Given the description of an element on the screen output the (x, y) to click on. 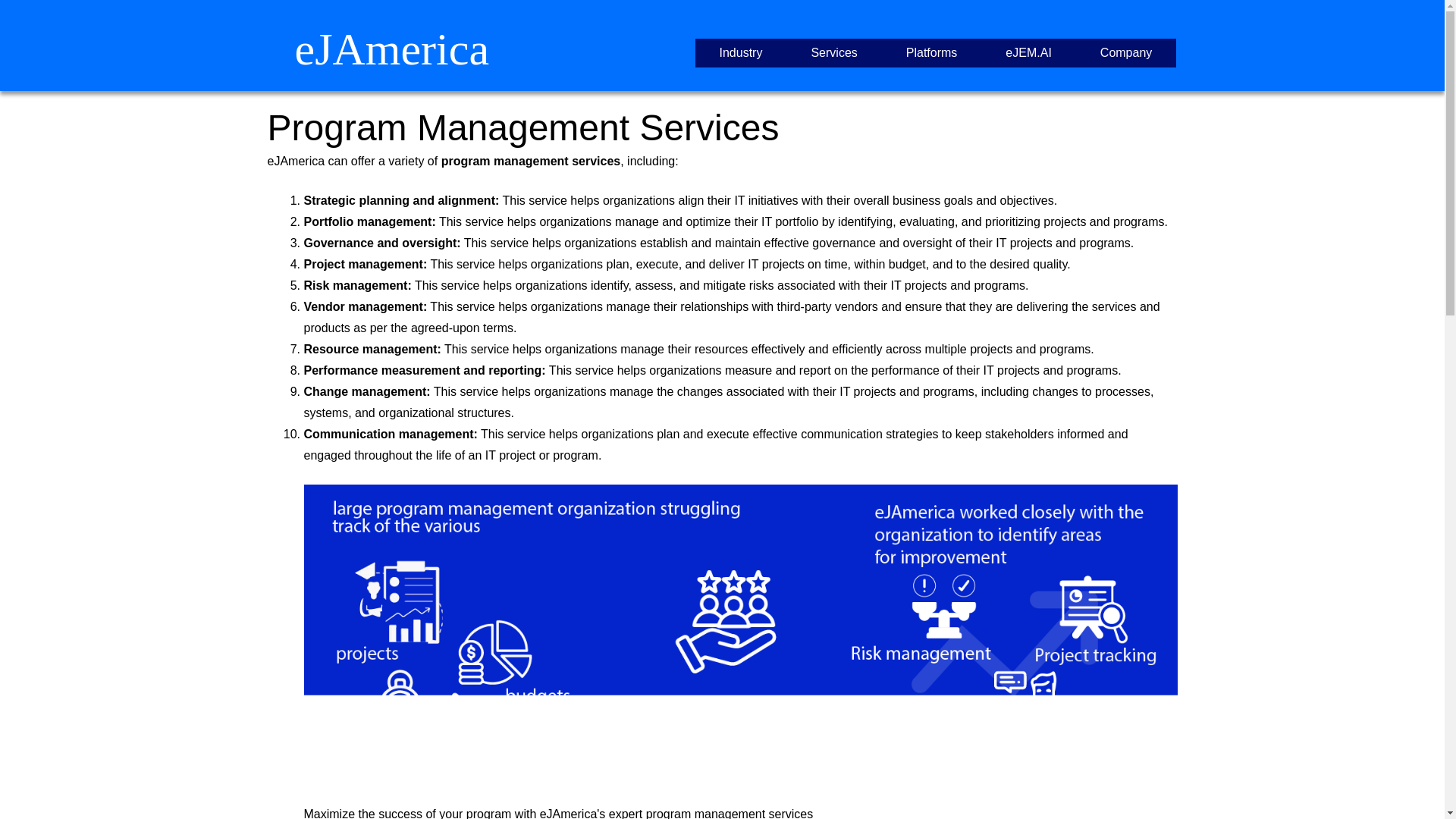
Company (1125, 52)
eJEM.AI (1027, 52)
Services (834, 52)
eJAmerica (391, 49)
Industry (740, 52)
Platforms (931, 52)
eJAmerica (391, 49)
